Given the description of an element on the screen output the (x, y) to click on. 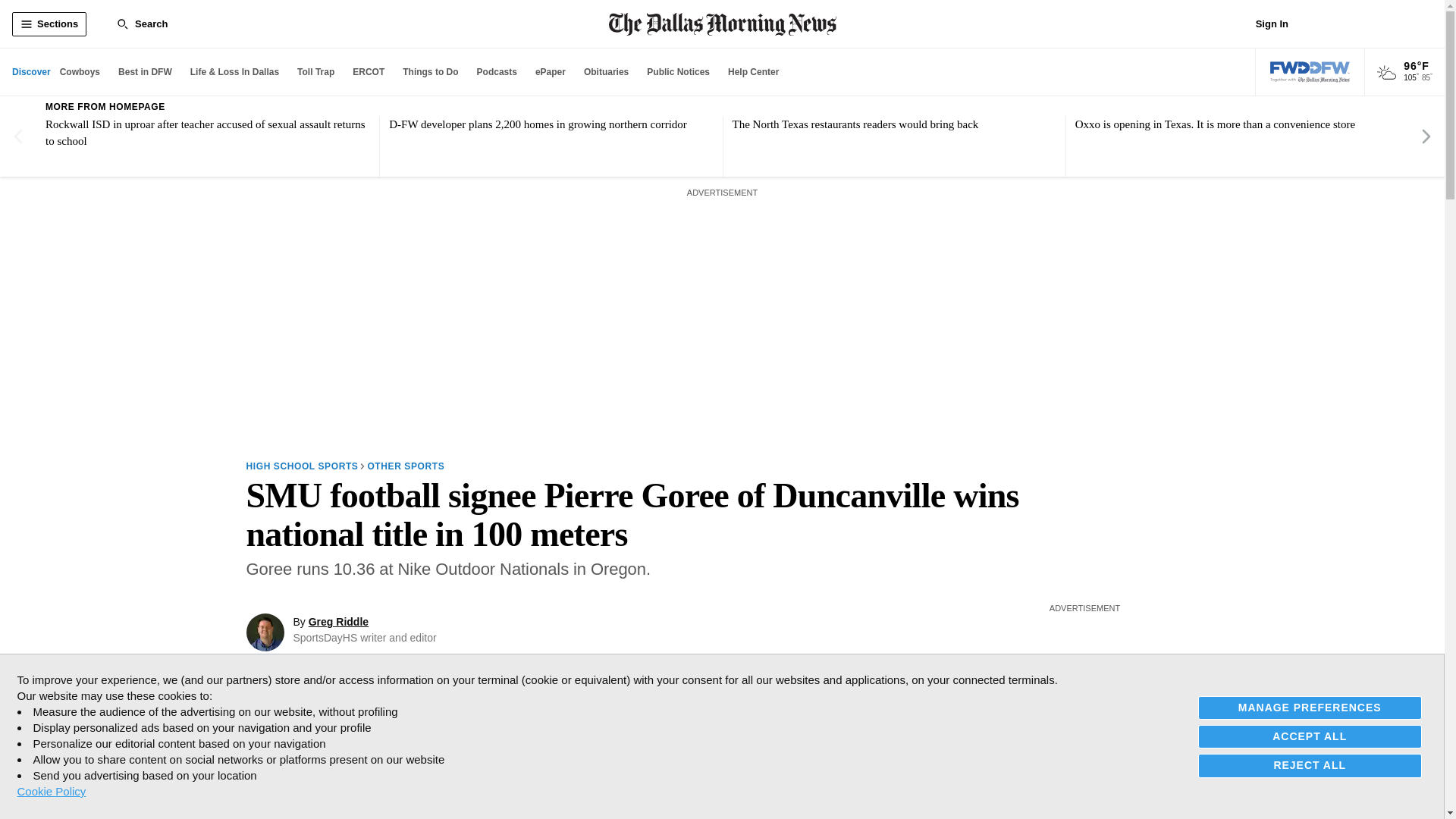
MANAGE PREFERENCES (1310, 707)
REJECT ALL (1310, 765)
ACCEPT ALL (1310, 736)
FWD DFW, Together with The Dallas Morning News (1310, 72)
Few clouds (1386, 72)
Cookie Policy (50, 790)
